Given the description of an element on the screen output the (x, y) to click on. 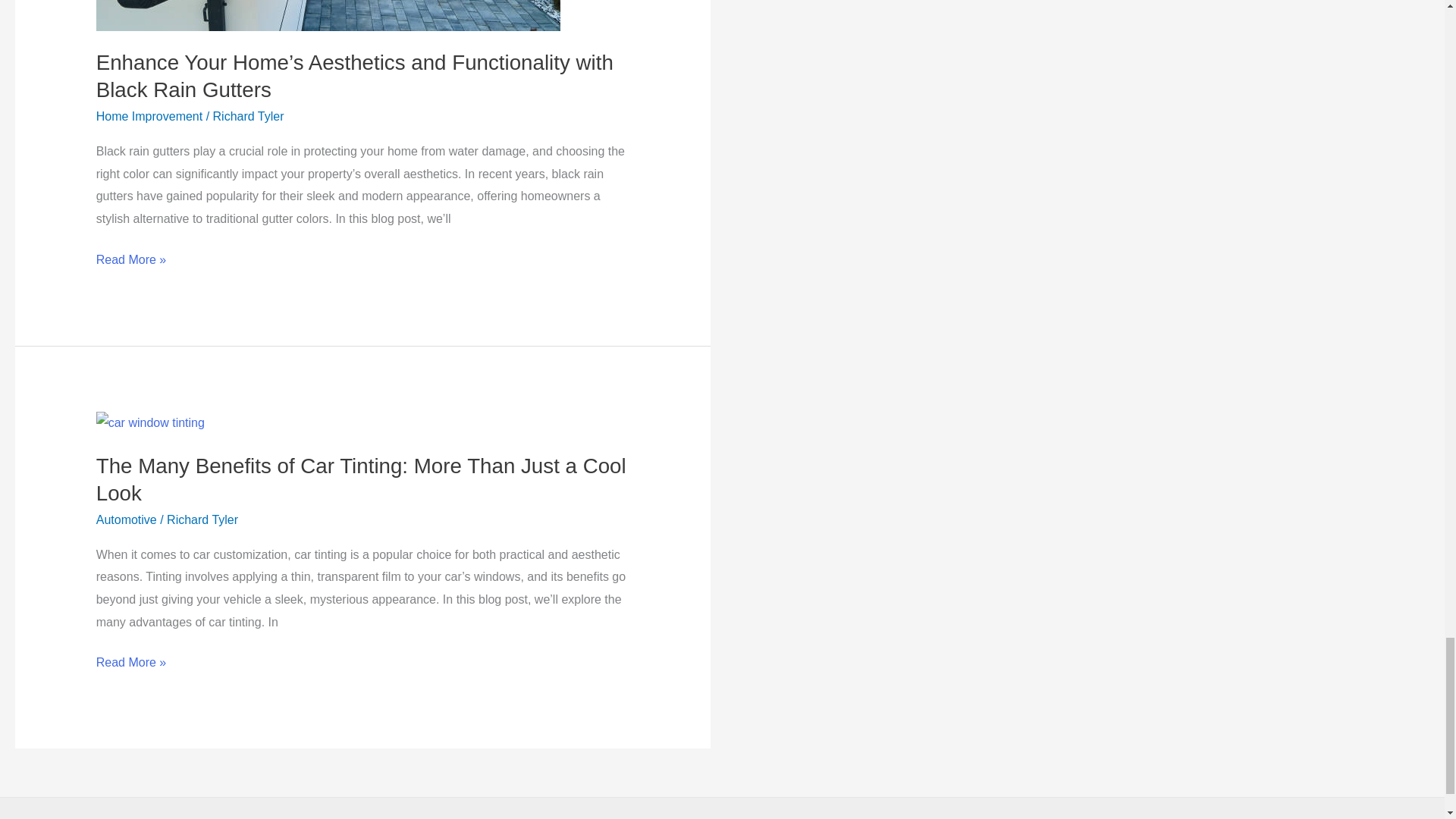
View all posts by Richard Tyler (202, 519)
Richard Tyler (202, 519)
The Many Benefits of Car Tinting: More Than Just a Cool Look (361, 479)
View all posts by Richard Tyler (247, 115)
Home Improvement (149, 115)
Automotive (126, 519)
Richard Tyler (247, 115)
